Given the description of an element on the screen output the (x, y) to click on. 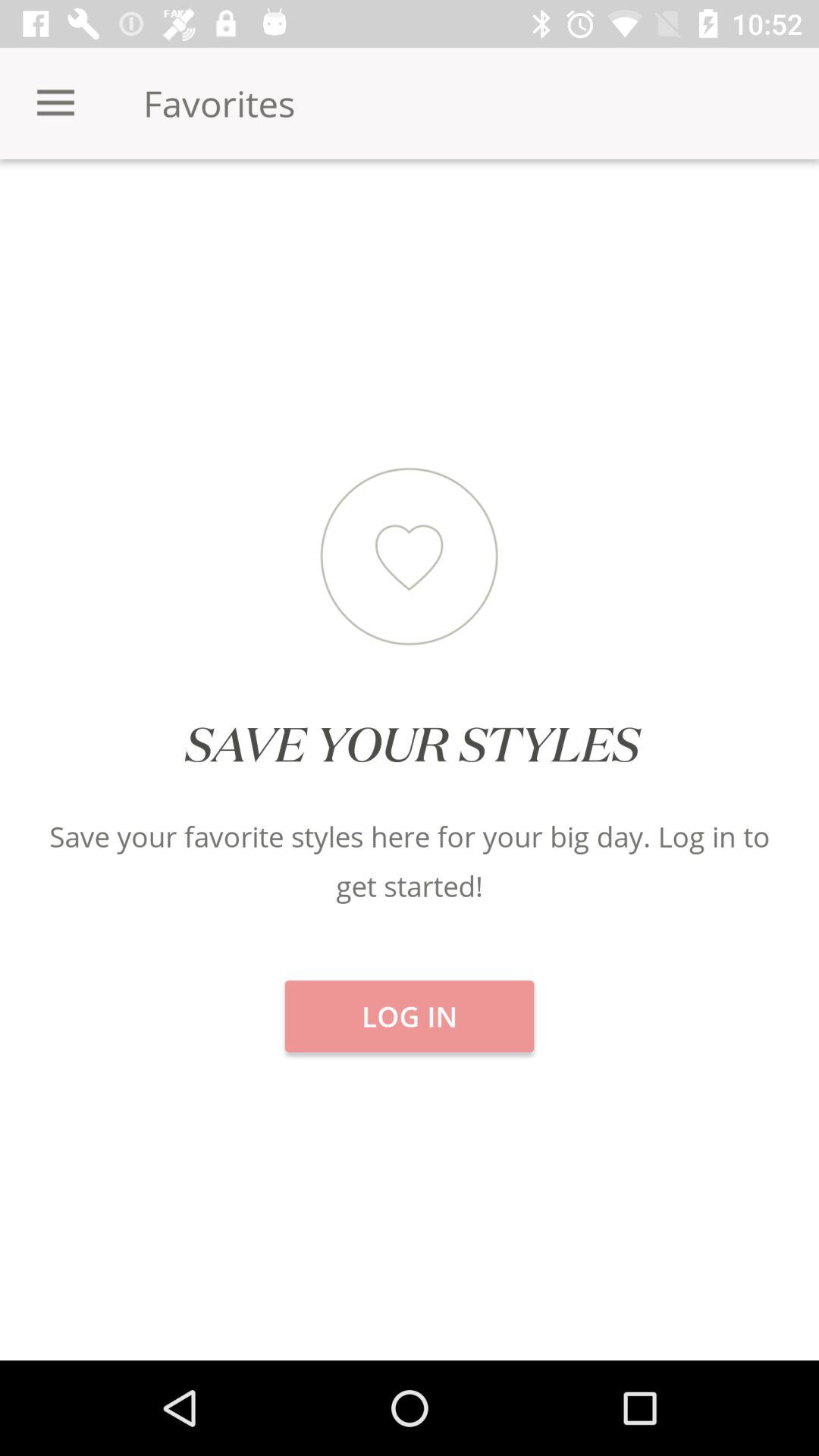
tap the item next to categories item (409, 212)
